Given the description of an element on the screen output the (x, y) to click on. 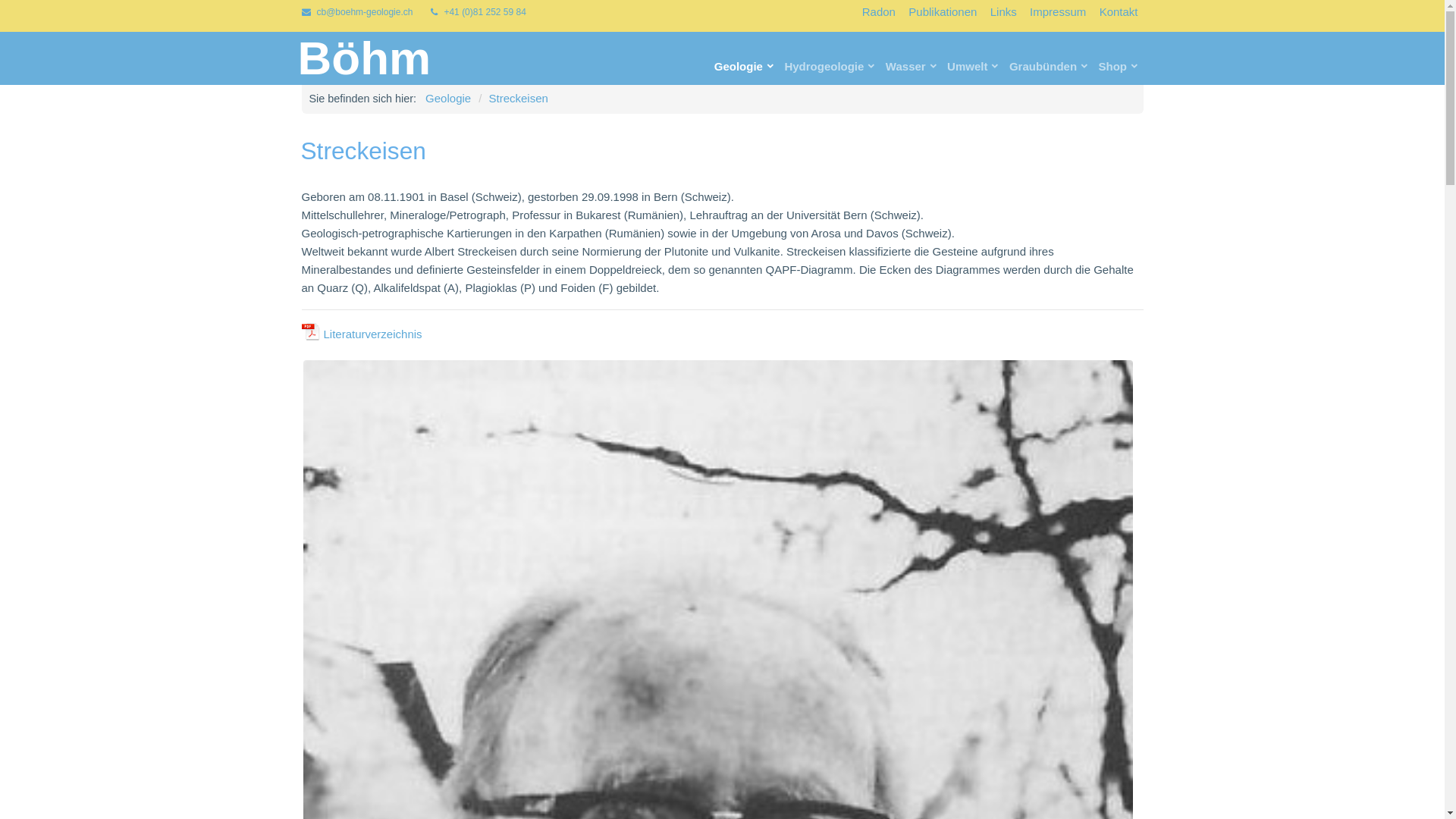
Radon Element type: text (878, 12)
Kontakt Element type: text (1118, 12)
cb@boehm-geologie.ch Element type: text (357, 11)
Hydrogeologie Element type: text (827, 66)
+41 (0)81 252 59 84 Element type: text (477, 11)
Literaturverzeichnis Element type: text (361, 333)
Umwelt Element type: text (970, 66)
Shop Element type: text (1116, 66)
Publikationen Element type: text (942, 12)
Streckeisen Element type: text (517, 97)
Geologie Element type: text (447, 97)
Links Element type: text (1003, 12)
Wasser Element type: text (909, 66)
Impressum Element type: text (1057, 12)
Geologie Element type: text (742, 66)
